Given the description of an element on the screen output the (x, y) to click on. 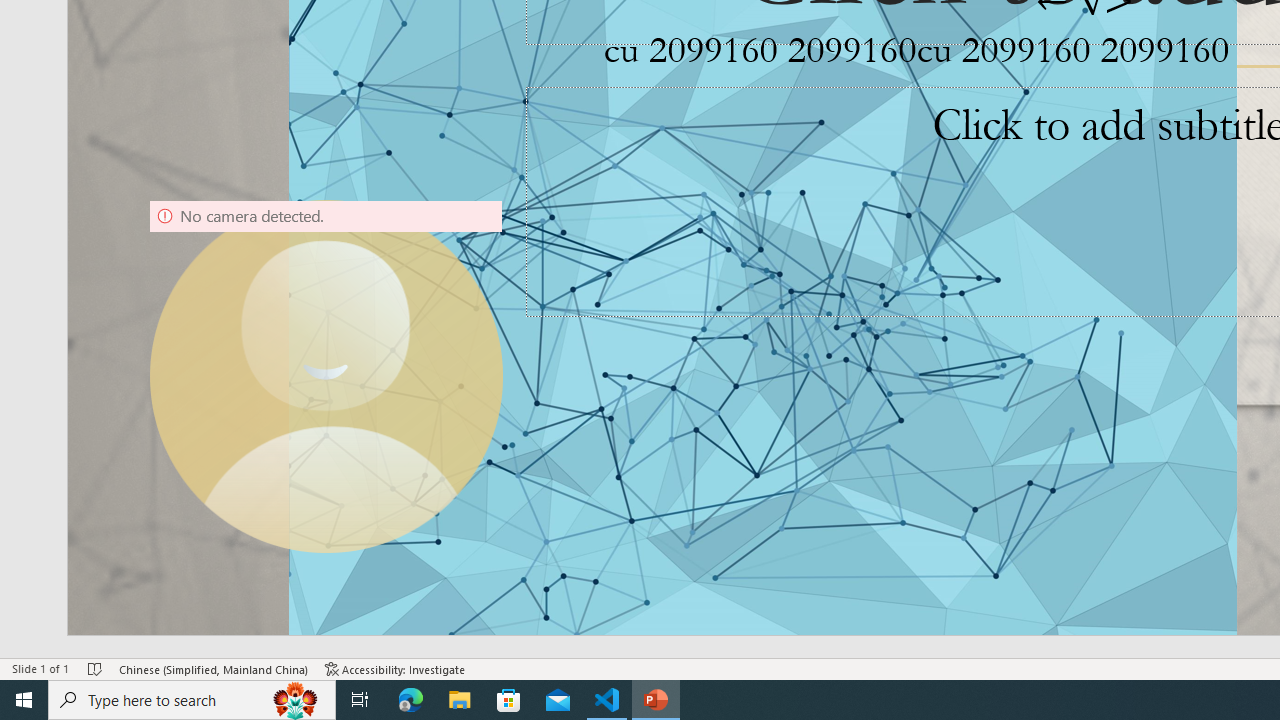
Camera 9, No camera detected. (326, 376)
